Given the description of an element on the screen output the (x, y) to click on. 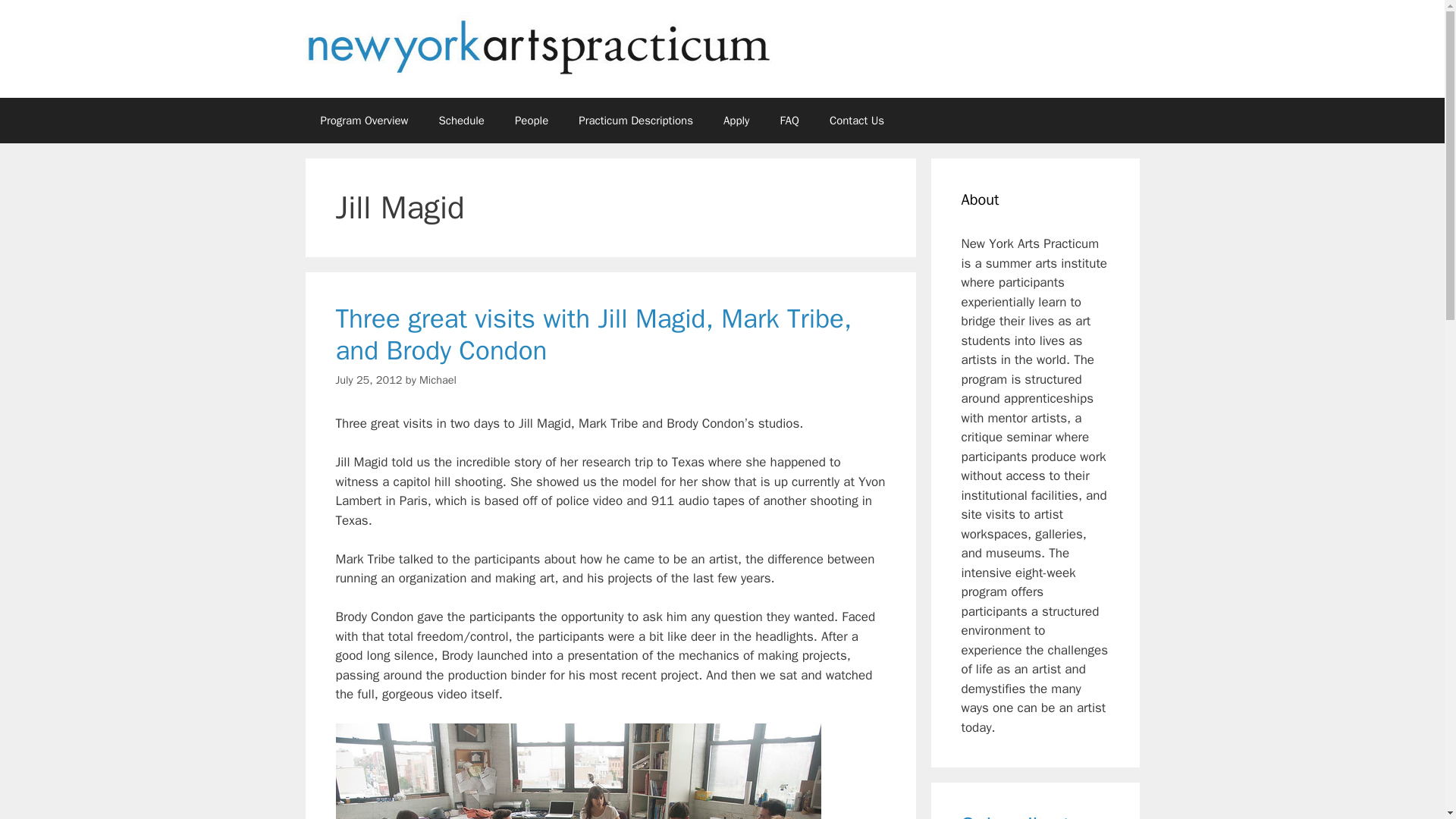
Schedule (461, 120)
Michael (438, 379)
Program Overview (363, 120)
Contact Us (856, 120)
Search (35, 18)
People (531, 120)
Practicum Descriptions (635, 120)
View all posts by Michael (438, 379)
Apply (735, 120)
